Given the description of an element on the screen output the (x, y) to click on. 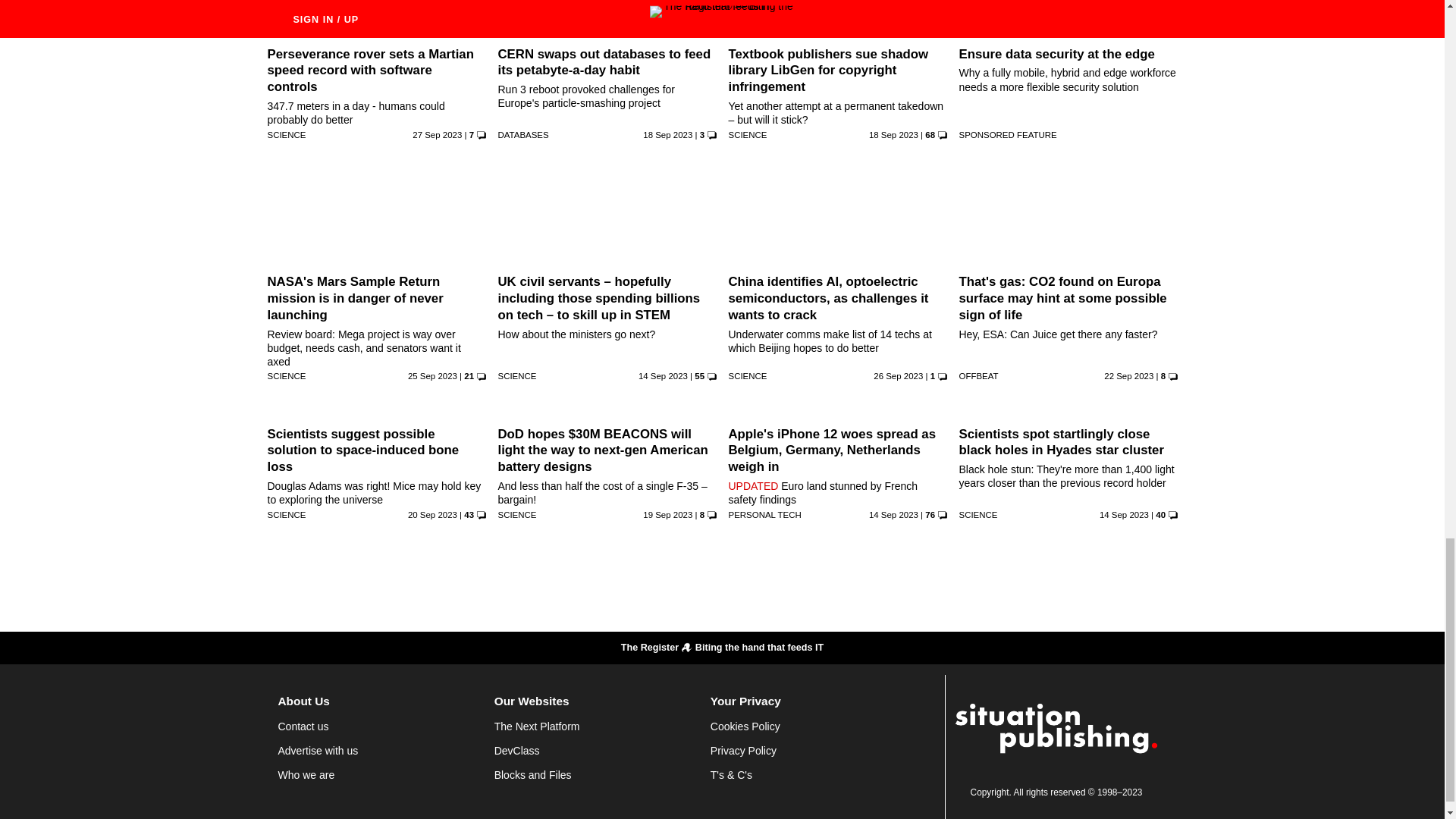
18 Sep 2023 17:15 (893, 134)
18 Sep 2023 15:0 (668, 134)
14 Sep 2023 11:1 (663, 375)
19 Sep 2023 21:31 (668, 514)
27 Sep 2023 19:0 (436, 134)
22 Sep 2023 18:45 (1128, 375)
26 Sep 2023 4:45 (898, 375)
20 Sep 2023 8:33 (432, 514)
25 Sep 2023 15:35 (432, 375)
